Given the description of an element on the screen output the (x, y) to click on. 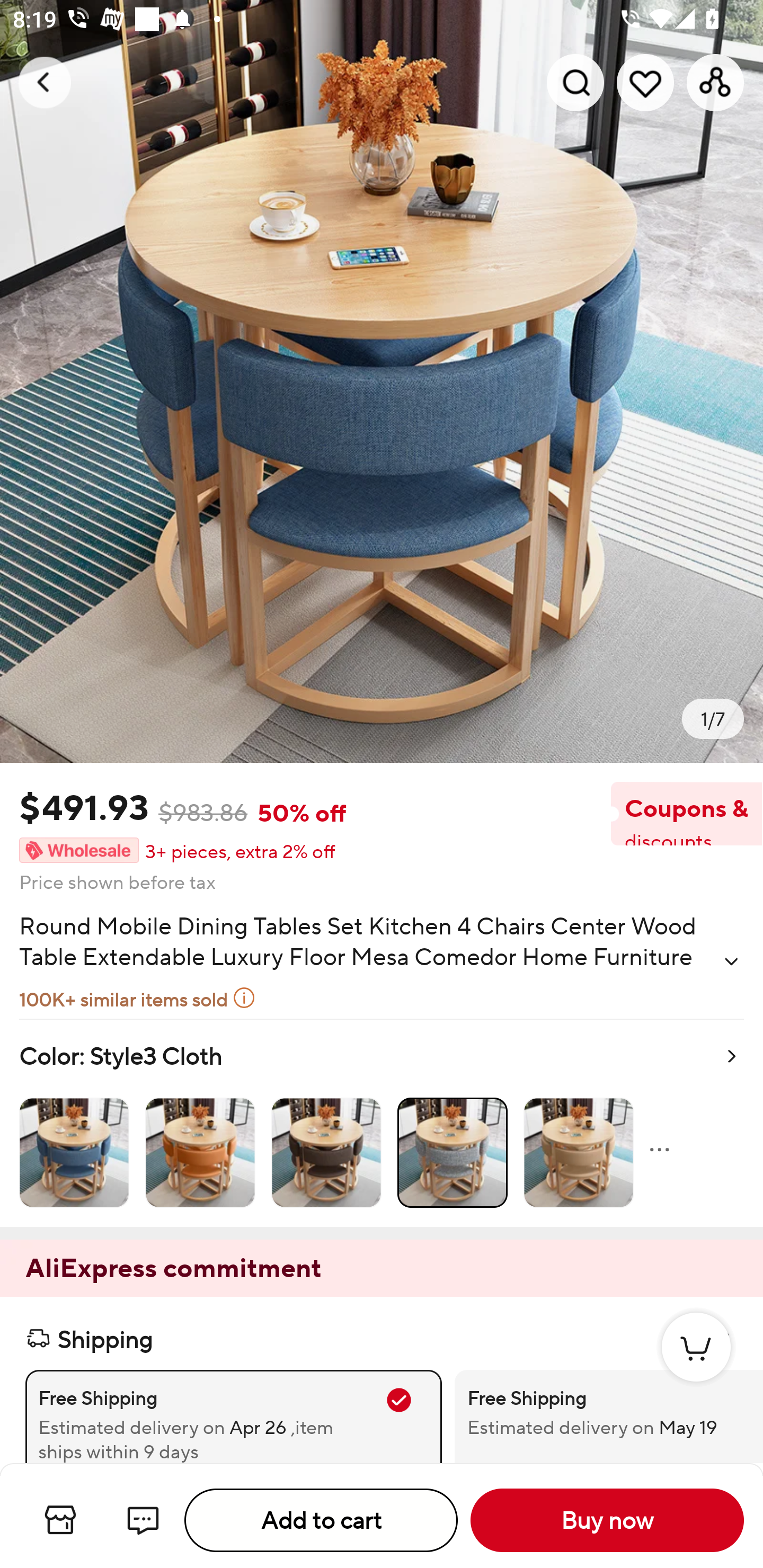
Navigate up (44, 82)
 (730, 960)
Color: Style3 Cloth  (381, 1122)
Free Shipping  Estimated delivery on May 19  (595, 1416)
Add to cart (320, 1520)
Buy now (606, 1520)
